Given the description of an element on the screen output the (x, y) to click on. 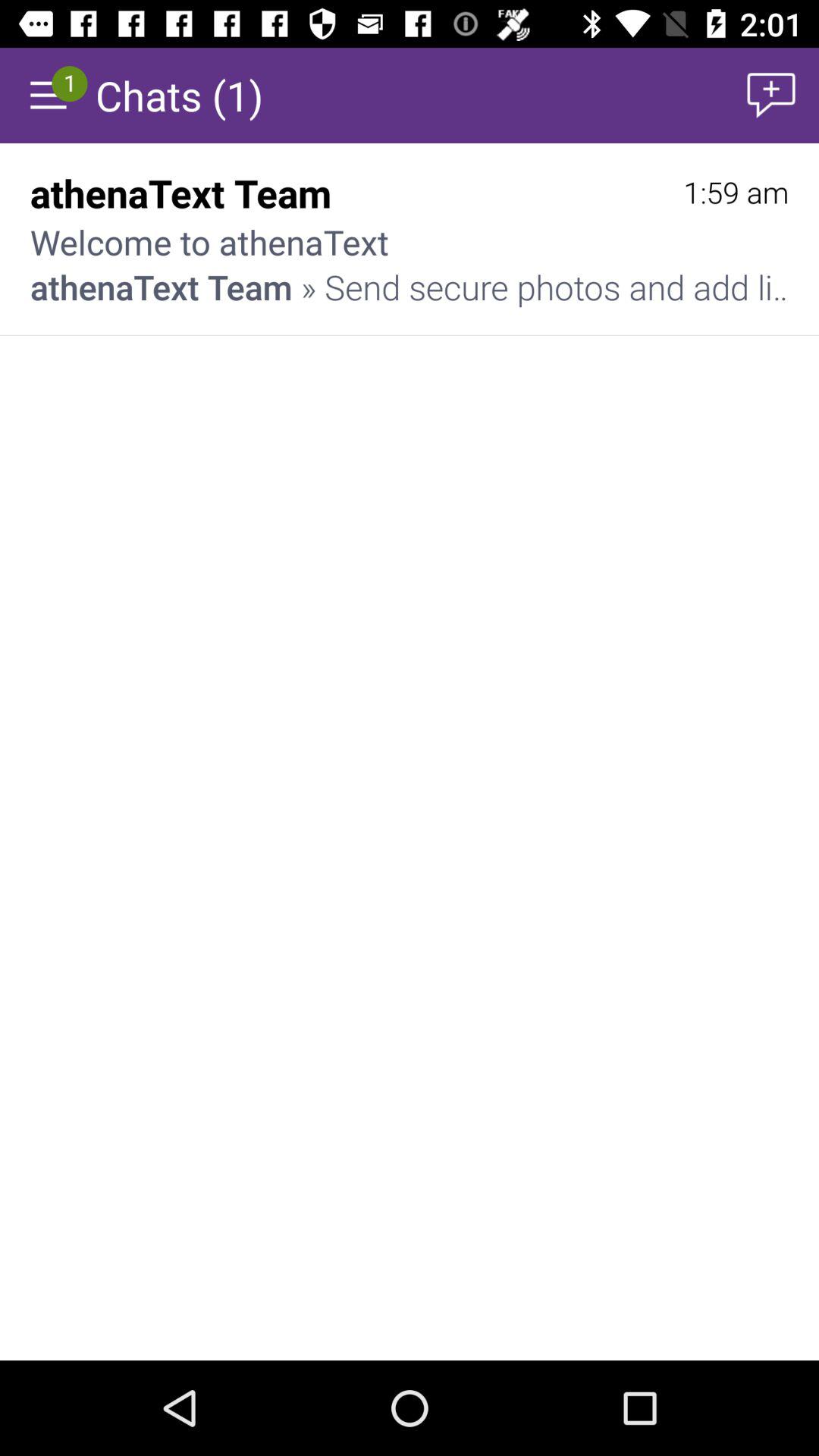
press icon next to chats (1) (771, 95)
